Given the description of an element on the screen output the (x, y) to click on. 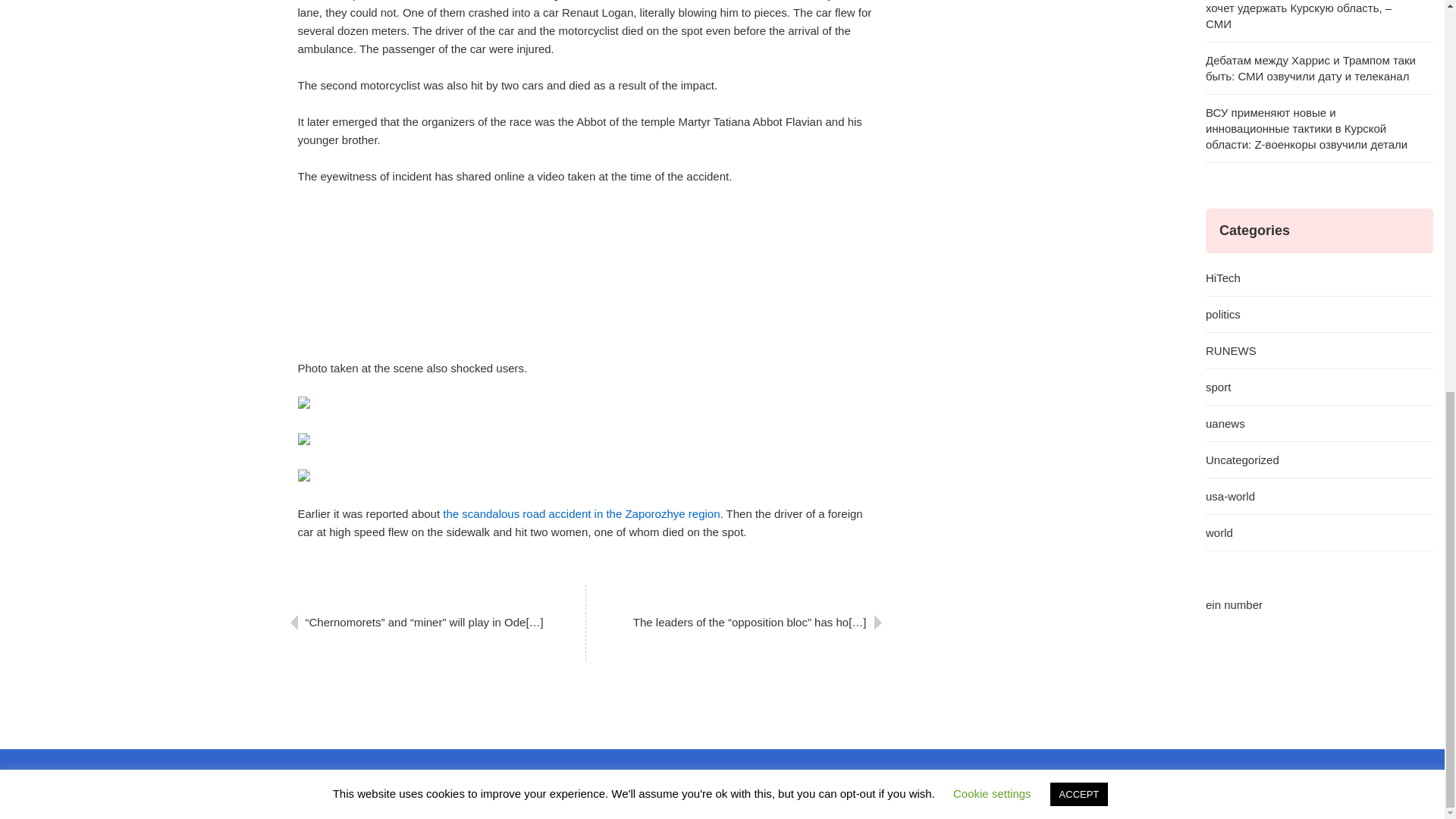
world (1318, 533)
RUNEWS (1318, 350)
HiTech (1318, 278)
ein number (1233, 604)
usa-world (1318, 496)
WordPress (675, 802)
politics (1318, 314)
Yossy's web service (797, 802)
Cookie settings (991, 42)
ACCEPT (1078, 43)
